Given the description of an element on the screen output the (x, y) to click on. 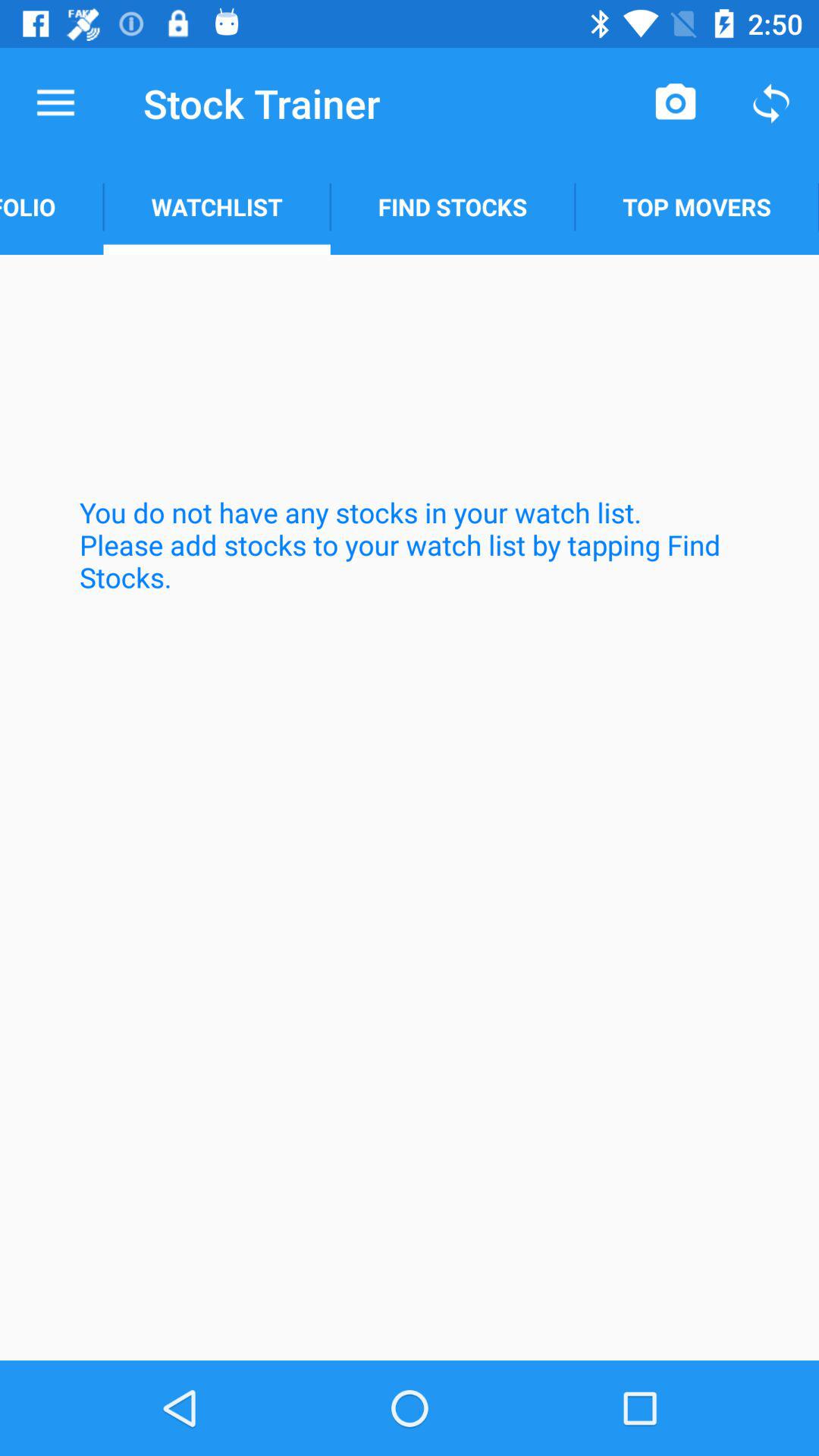
turn off the item next to the find stocks app (216, 206)
